Given the description of an element on the screen output the (x, y) to click on. 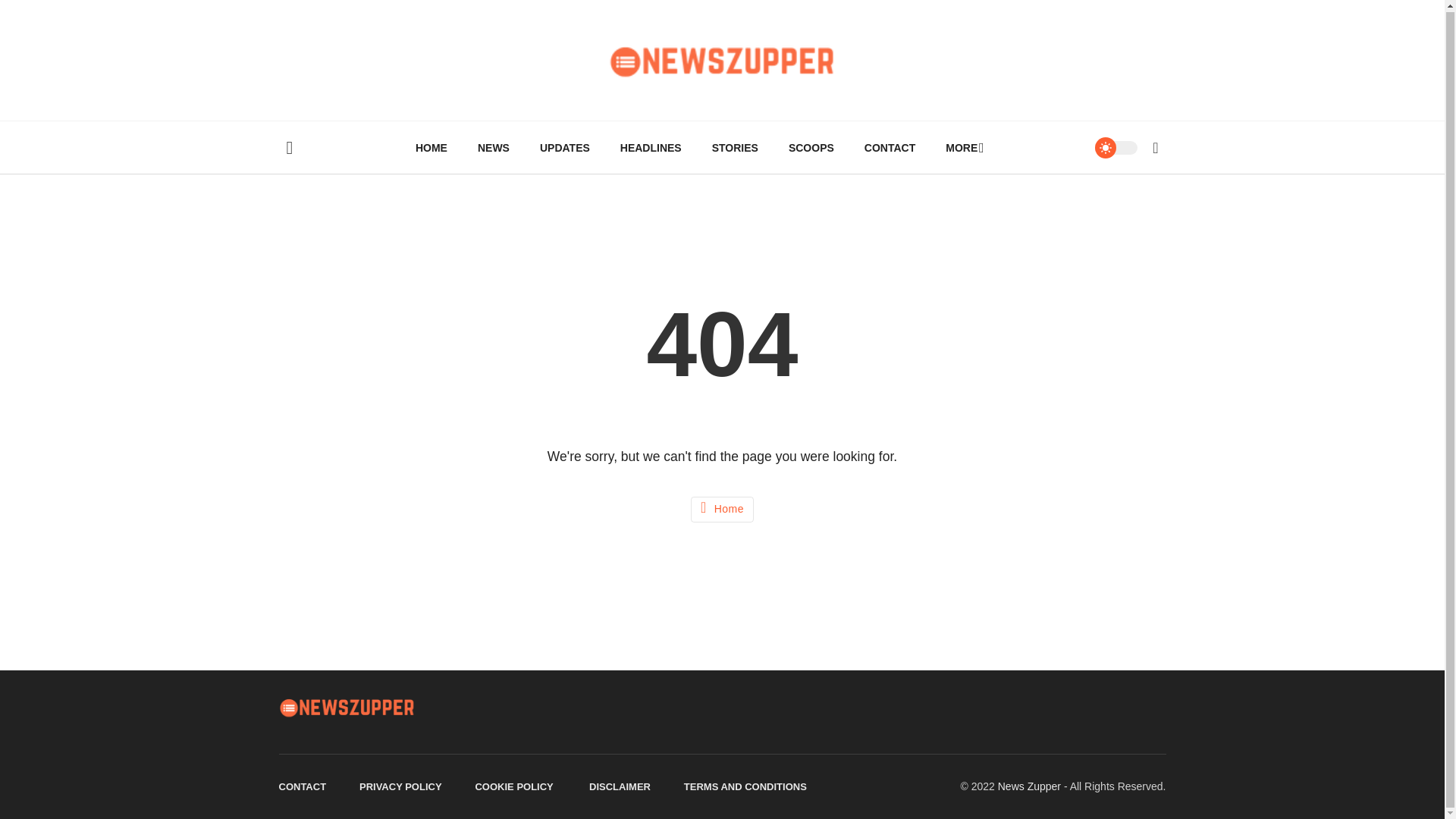
NEWS (493, 147)
HEADLINES (651, 147)
PRIVACY POLICY (400, 786)
STORIES (735, 147)
UPDATES (564, 147)
CONTACT (889, 147)
News Zupper (1029, 786)
Home (722, 509)
CONTACT (302, 786)
COOKIE POLICY  (515, 786)
TERMS AND CONDITIONS (745, 786)
DISCLAIMER (619, 786)
SCOOPS (810, 147)
MORE (962, 147)
HOME (431, 147)
